Given the description of an element on the screen output the (x, y) to click on. 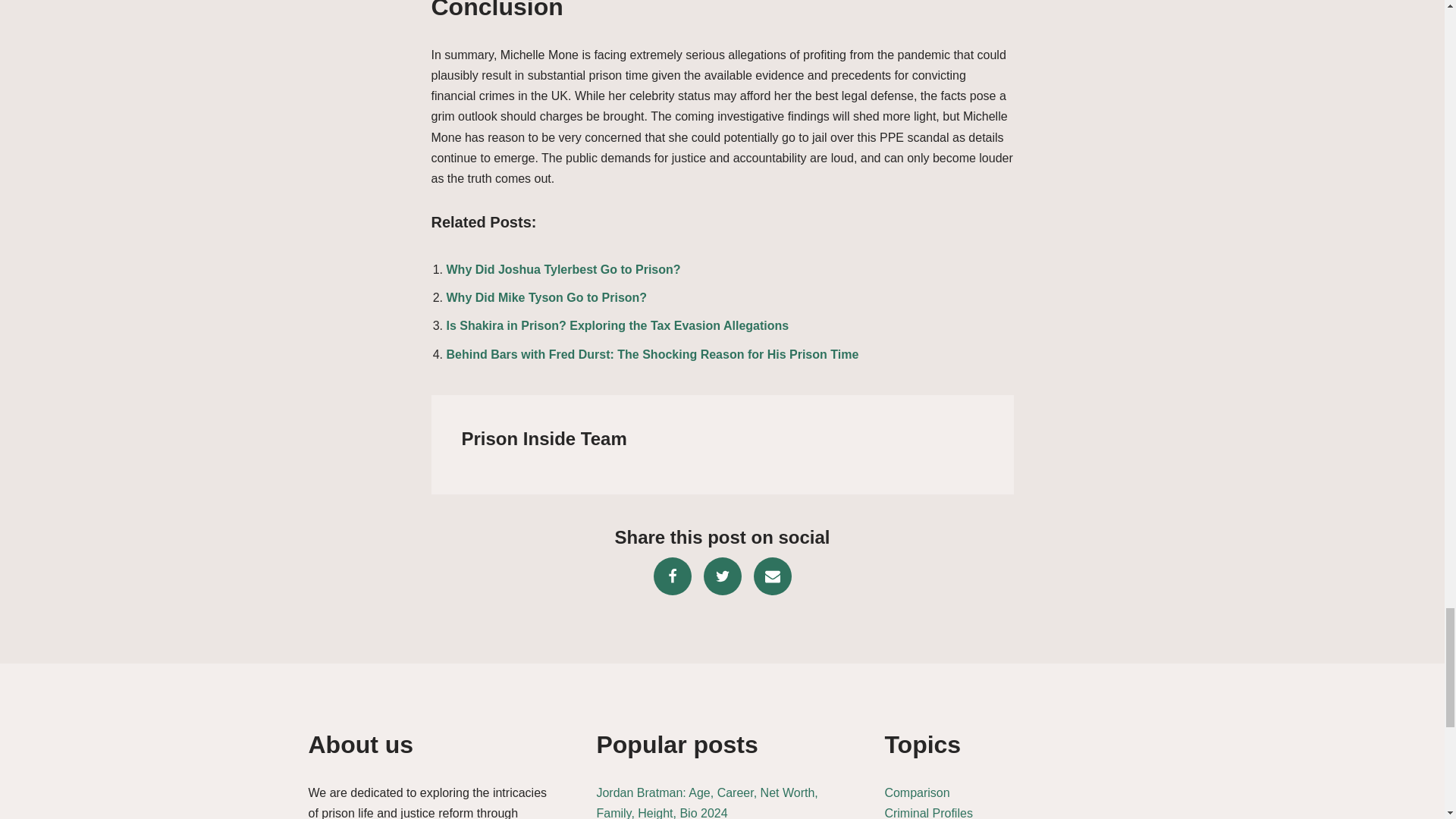
Why Did Mike Tyson Go to Prison? (545, 297)
Is Shakira in Prison? Exploring the Tax Evasion Allegations (617, 325)
Facebook (672, 576)
Why Did Joshua Tylerbest Go to Prison? (562, 269)
Twitter (722, 576)
